Given the description of an element on the screen output the (x, y) to click on. 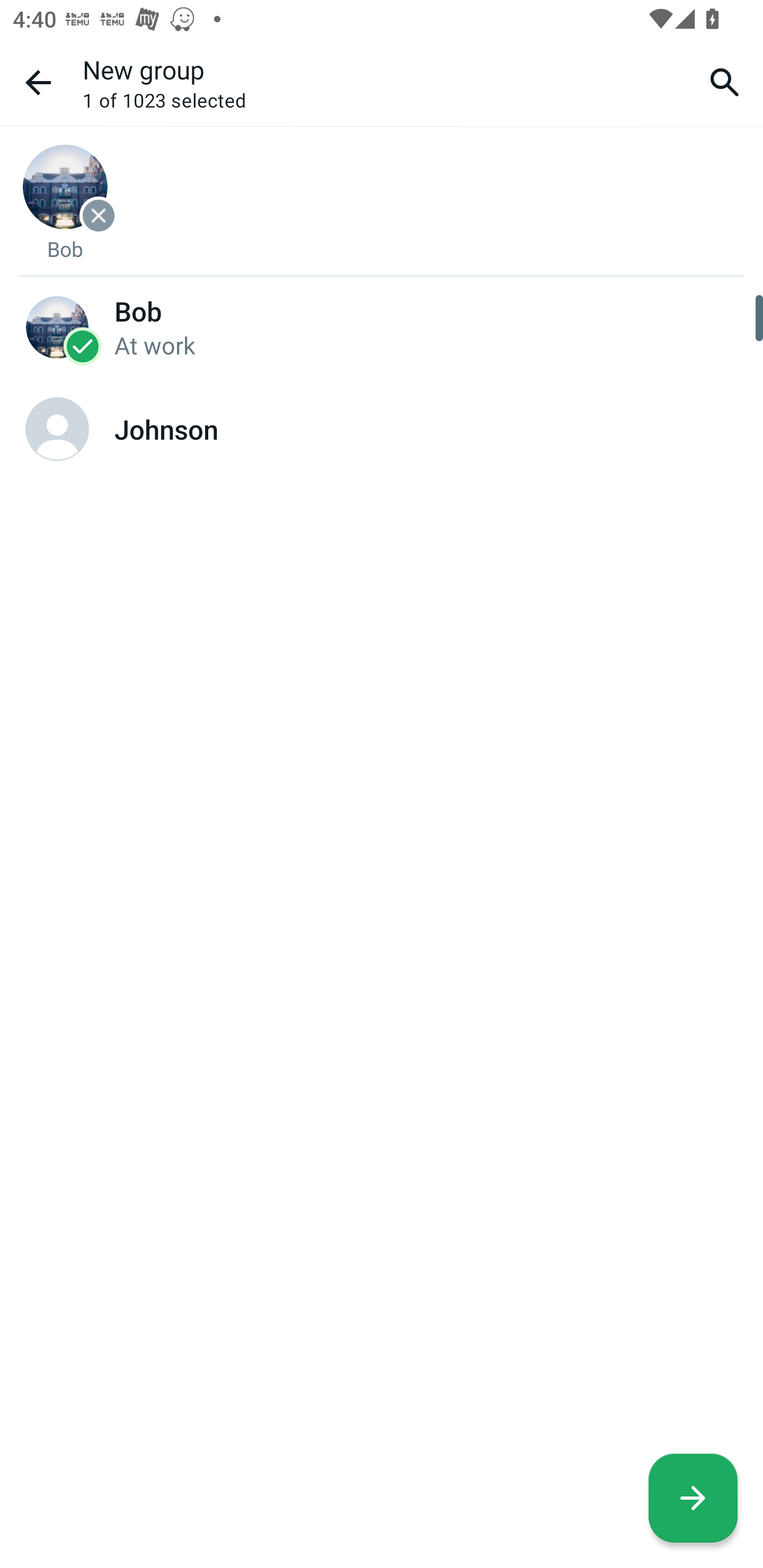
Navigate up (38, 82)
Search (724, 81)
Bob is selected Remove Bob (65, 202)
Bob Selected Bob ‎At work (381, 326)
Johnson (381, 428)
Next (692, 1497)
